Given the description of an element on the screen output the (x, y) to click on. 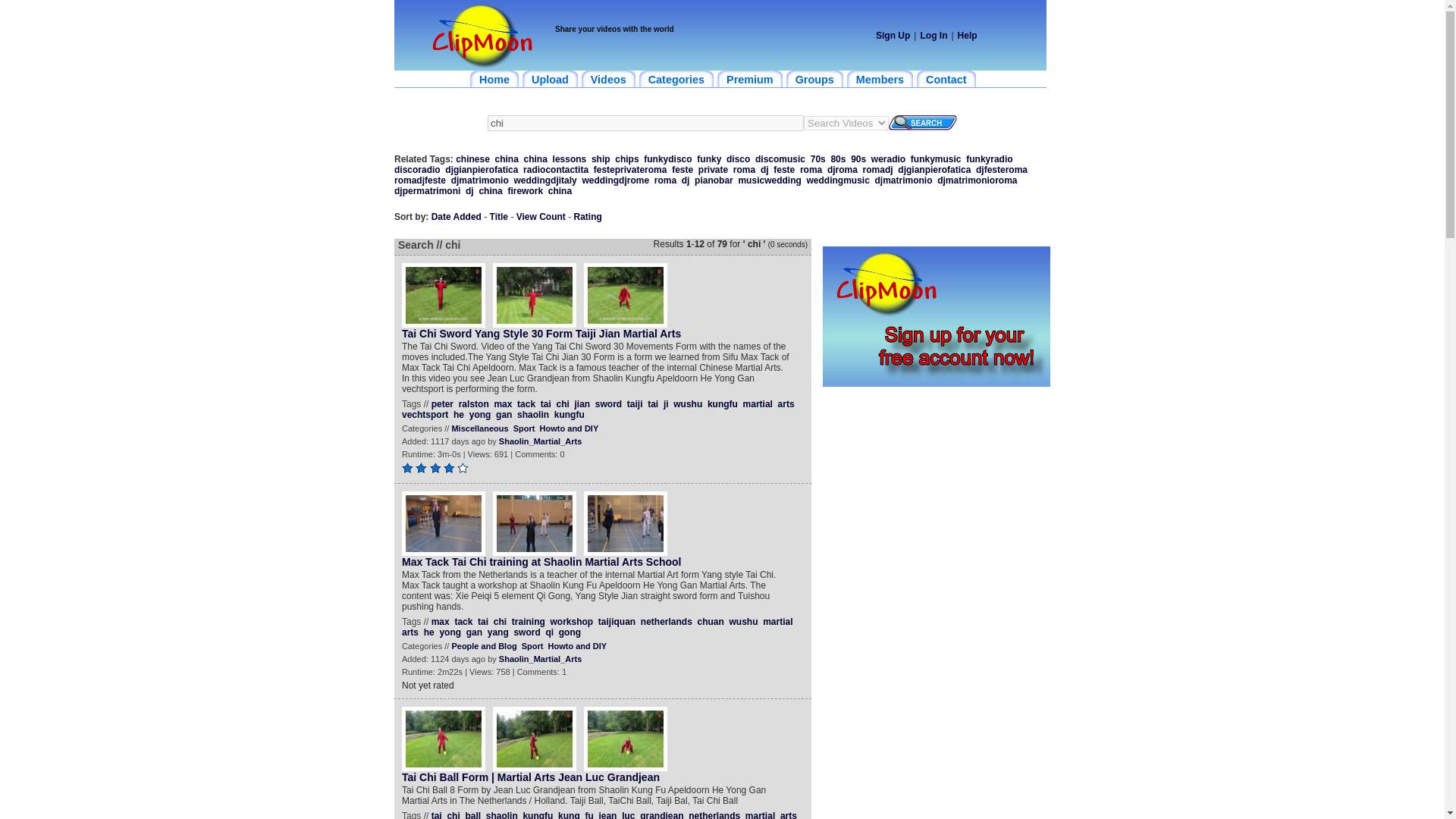
djroma (842, 169)
70s (817, 158)
Groups (814, 78)
Upload (550, 78)
private (713, 169)
roma (744, 169)
romadj (878, 169)
Premium Account (750, 78)
ship (600, 158)
discomusic (780, 158)
